Given the description of an element on the screen output the (x, y) to click on. 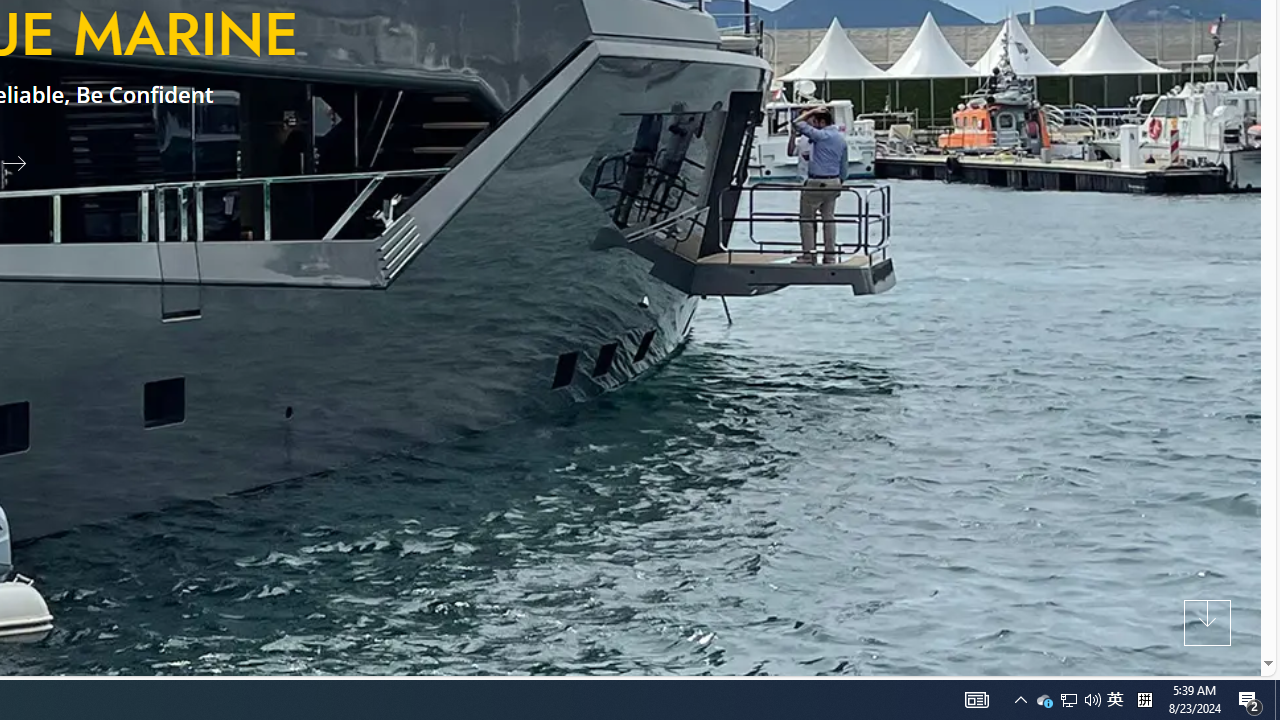
Next Slide (22, 161)
Next Section (1207, 622)
